Given the description of an element on the screen output the (x, y) to click on. 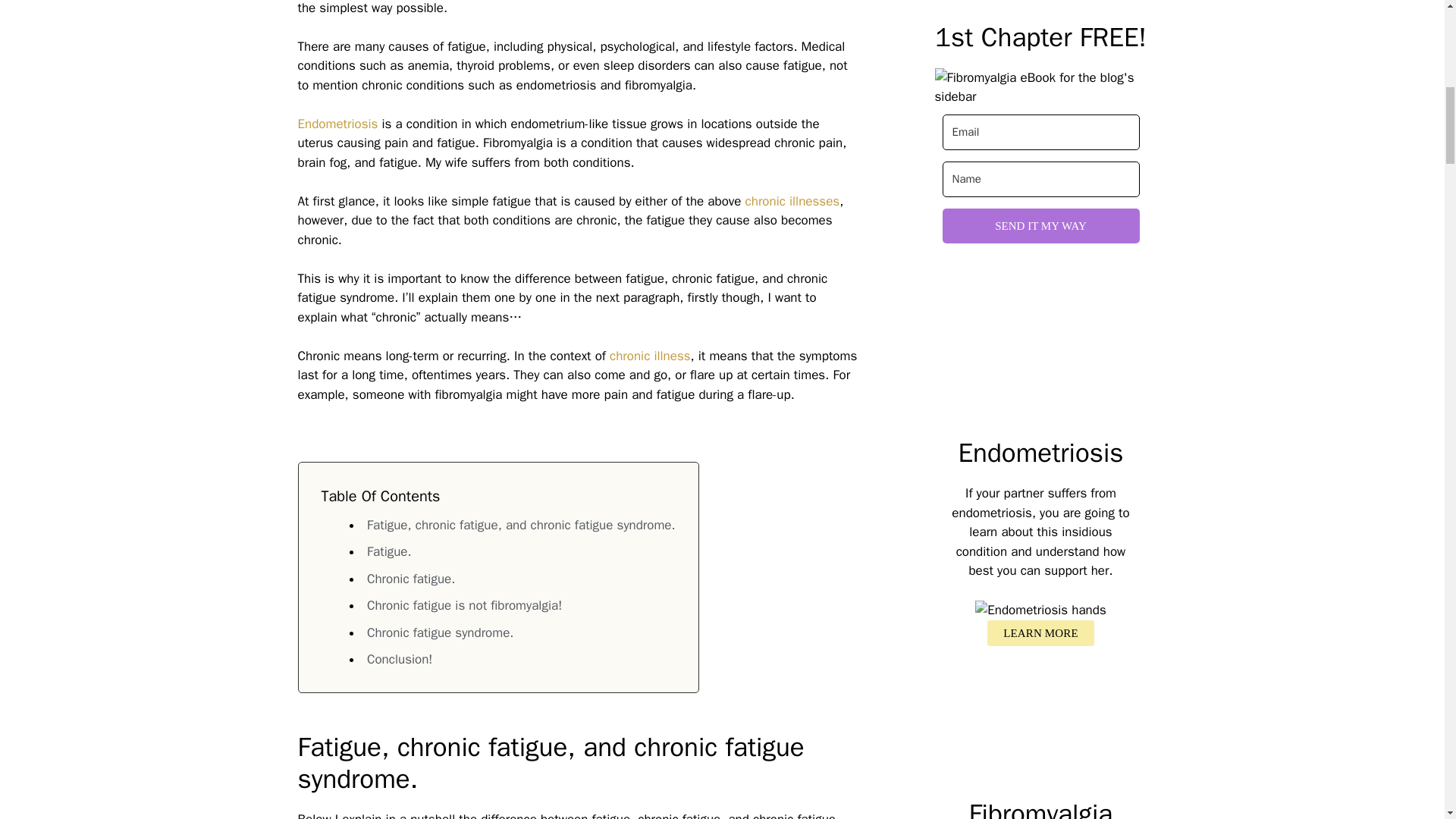
Fatigue. (389, 551)
Chronic fatigue. (410, 578)
Scroll back to top (1406, 720)
Endometriosis (339, 123)
Chronic fatigue syndrome. (439, 632)
Conclusion! (399, 659)
LEARN MORE (1040, 633)
SEND IT MY WAY (1040, 226)
Chronic fatigue is not fibromyalgia! (464, 605)
chronic illnesses (792, 201)
